Given the description of an element on the screen output the (x, y) to click on. 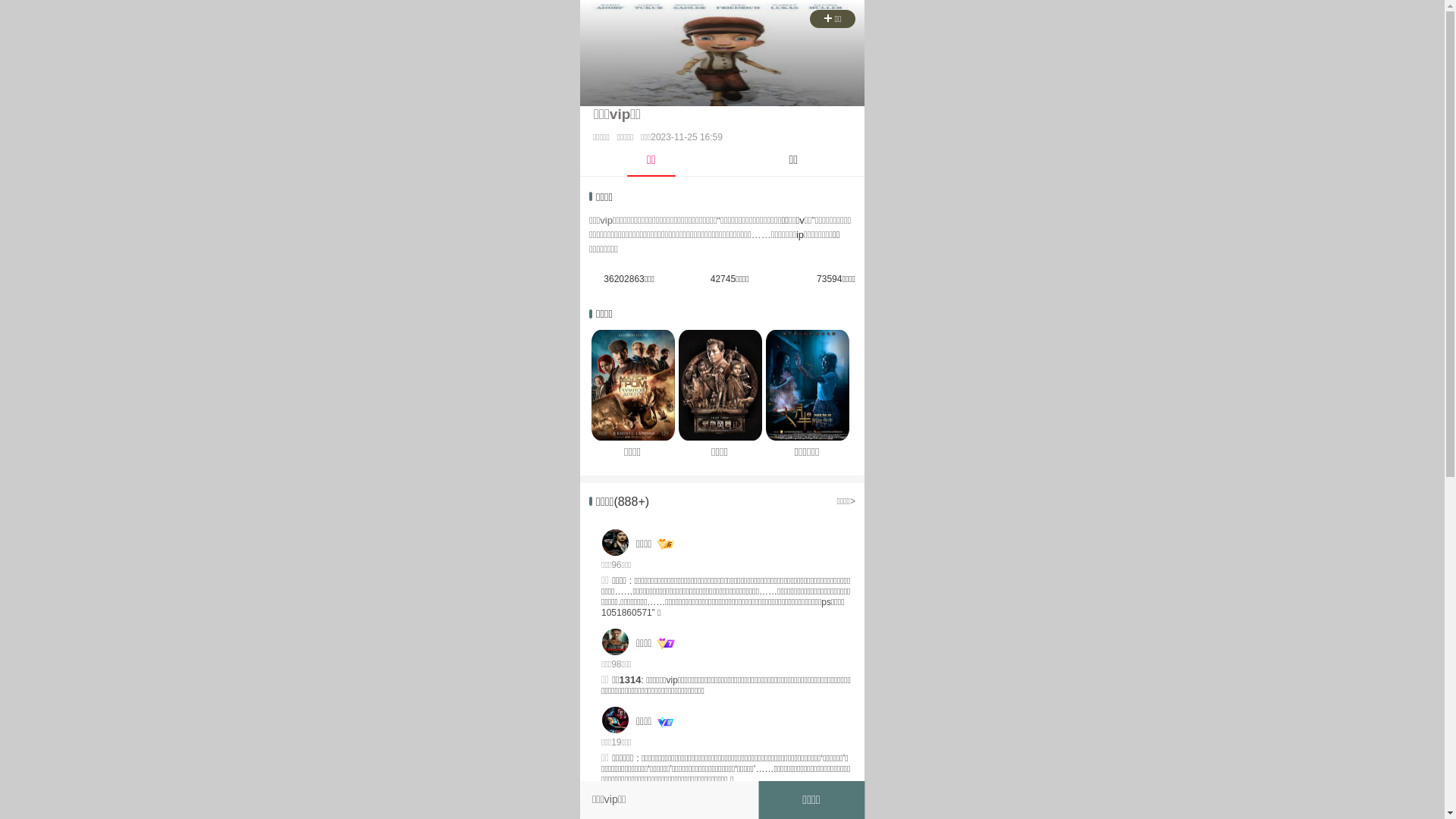
ip Element type: text (799, 234)
